Given the description of an element on the screen output the (x, y) to click on. 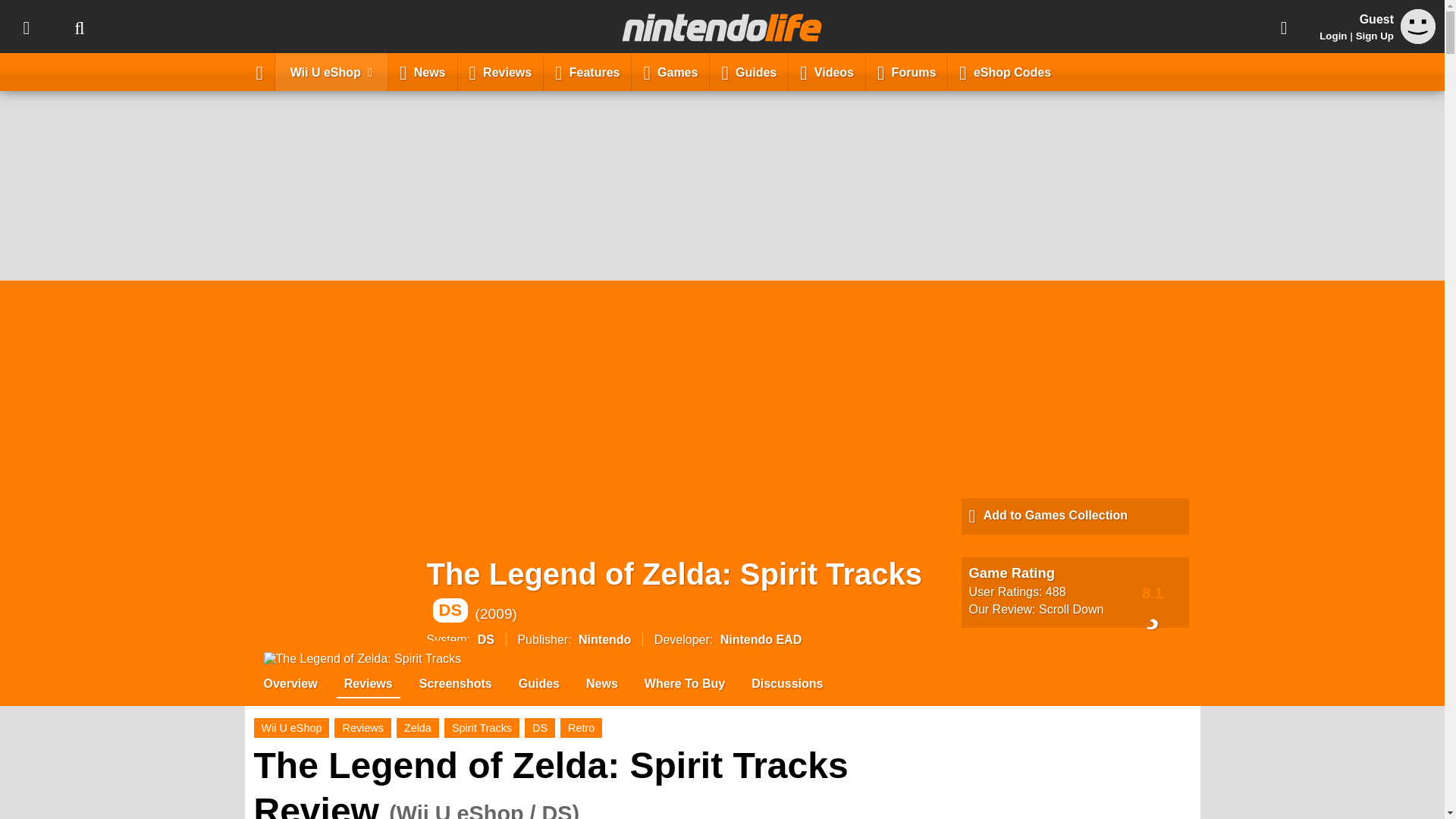
News (422, 71)
Search (79, 26)
Wii U eShop (331, 71)
The average score from our readers is 8.12 (1152, 591)
Guest (1417, 39)
Videos (827, 71)
Features (587, 71)
Home (259, 71)
Login (1332, 35)
Games (670, 71)
Nintendo Life (721, 27)
Share This Page (1283, 26)
Topics (26, 26)
Sign Up (1374, 35)
Guest (1417, 26)
